Given the description of an element on the screen output the (x, y) to click on. 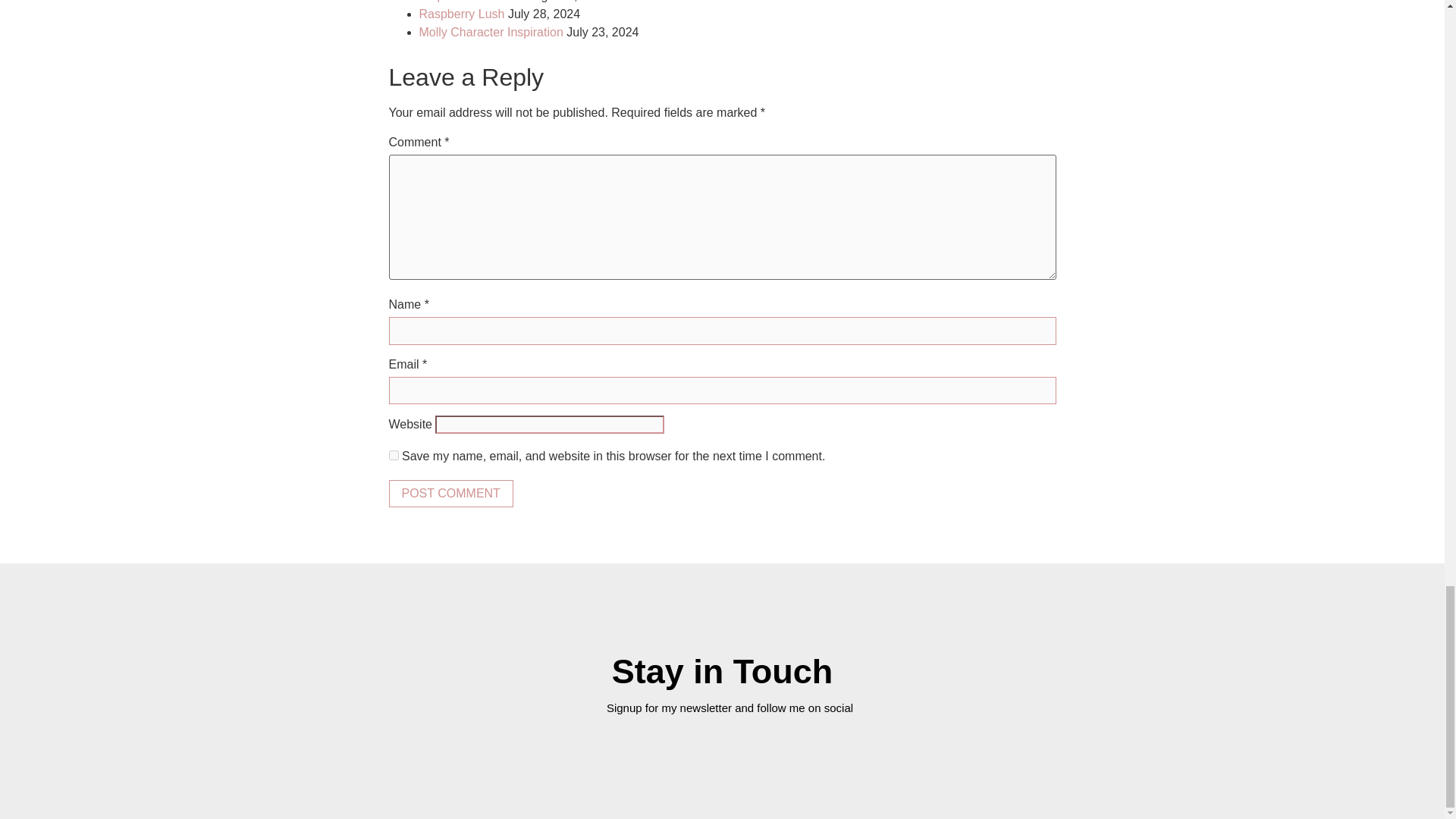
Post Comment (450, 492)
yes (392, 455)
Molly Character Inspiration (490, 31)
Raspberry Lush (461, 13)
Help the Hello Girls (470, 1)
Post Comment (450, 492)
